Given the description of an element on the screen output the (x, y) to click on. 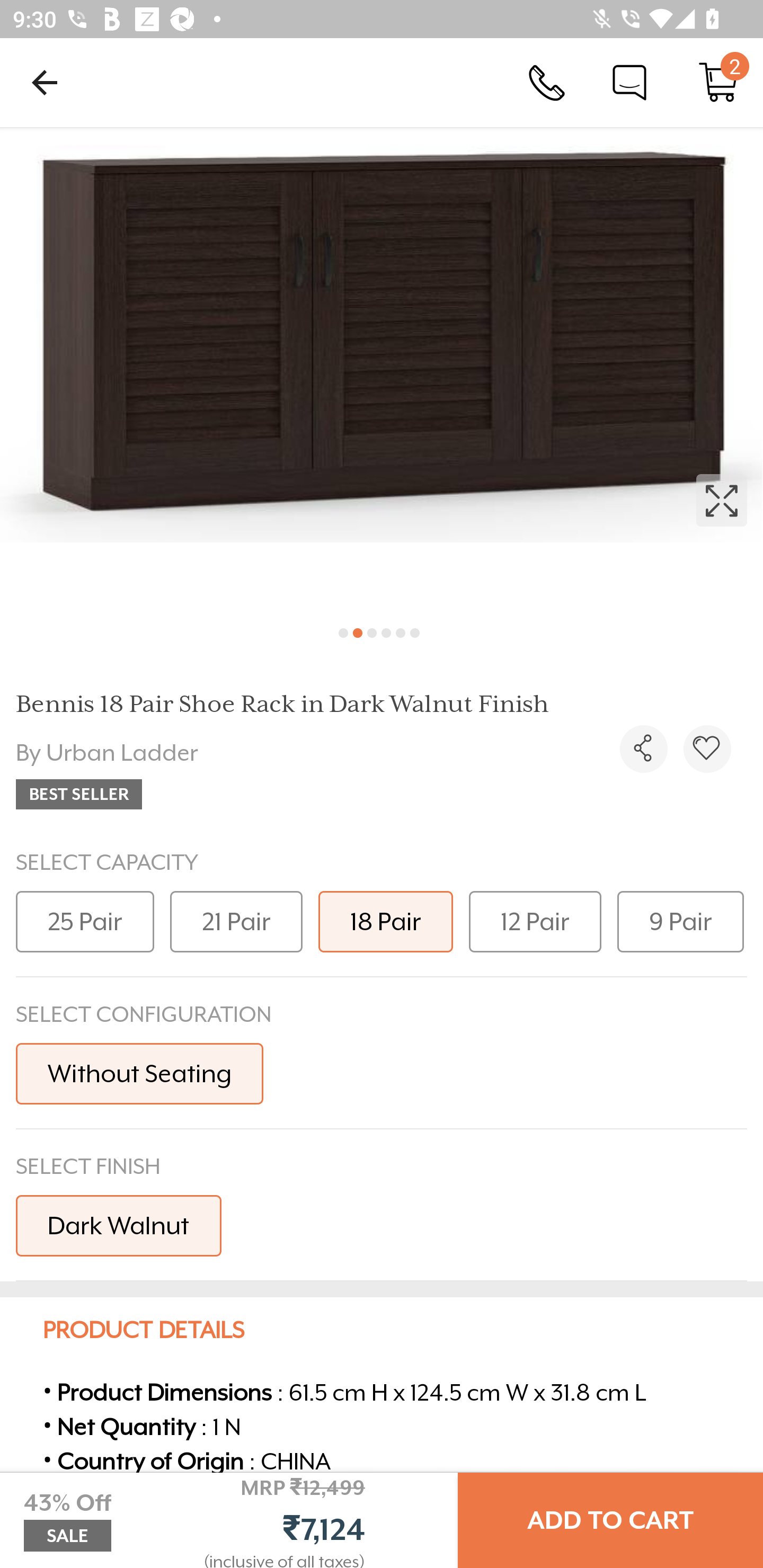
Navigate up (44, 82)
Call Us (546, 81)
Chat (629, 81)
Cart (718, 81)
 (381, 370)
 (643, 748)
 (706, 748)
25 Pair (85, 920)
21 Pair (236, 920)
18 Pair (385, 920)
12 Pair (535, 920)
9 Pair (680, 920)
Without Seating (139, 1072)
Dark Walnut (118, 1224)
ADD TO CART (610, 1520)
